Given the description of an element on the screen output the (x, y) to click on. 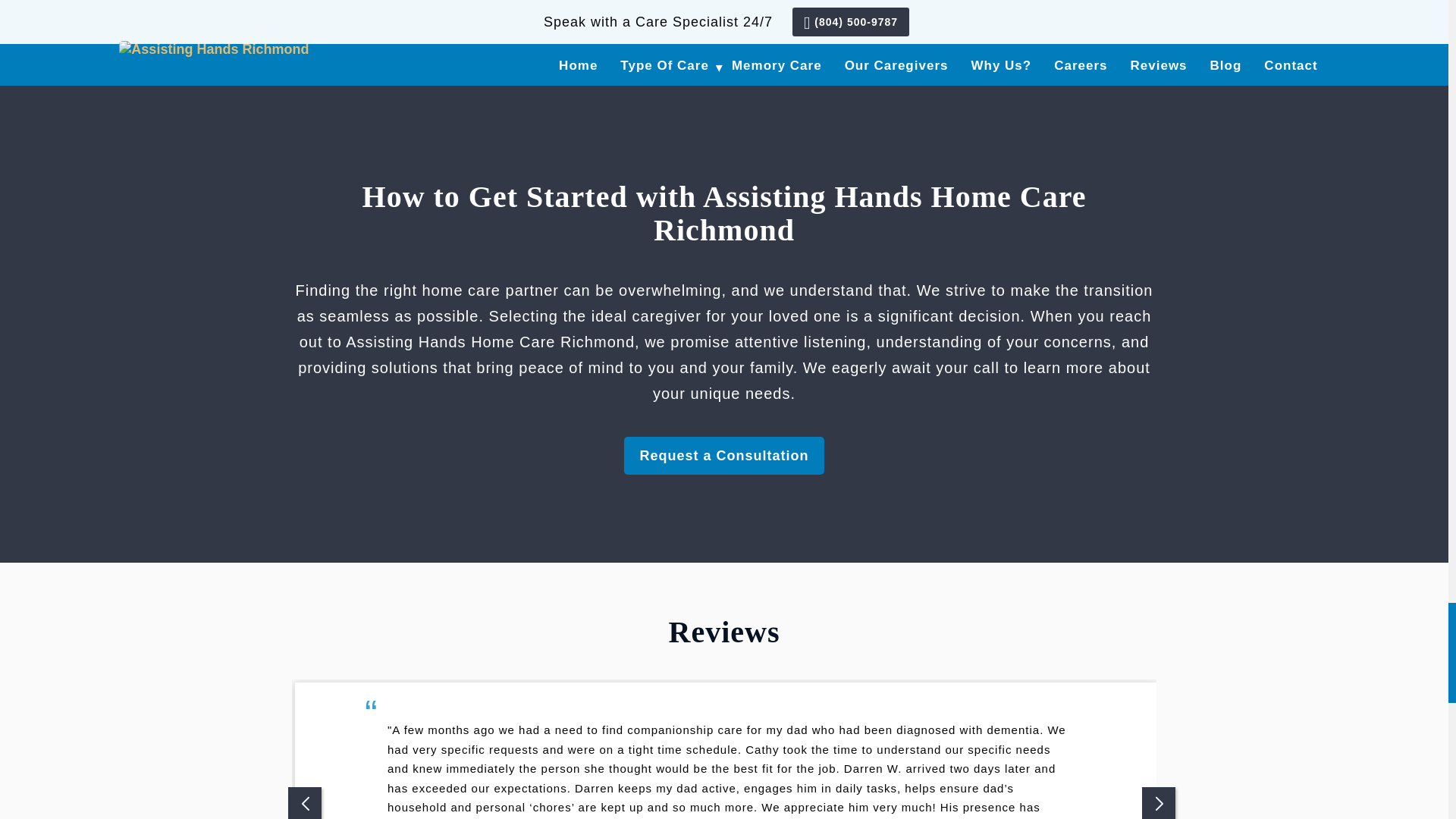
Request a Consultation (724, 455)
